Given the description of an element on the screen output the (x, y) to click on. 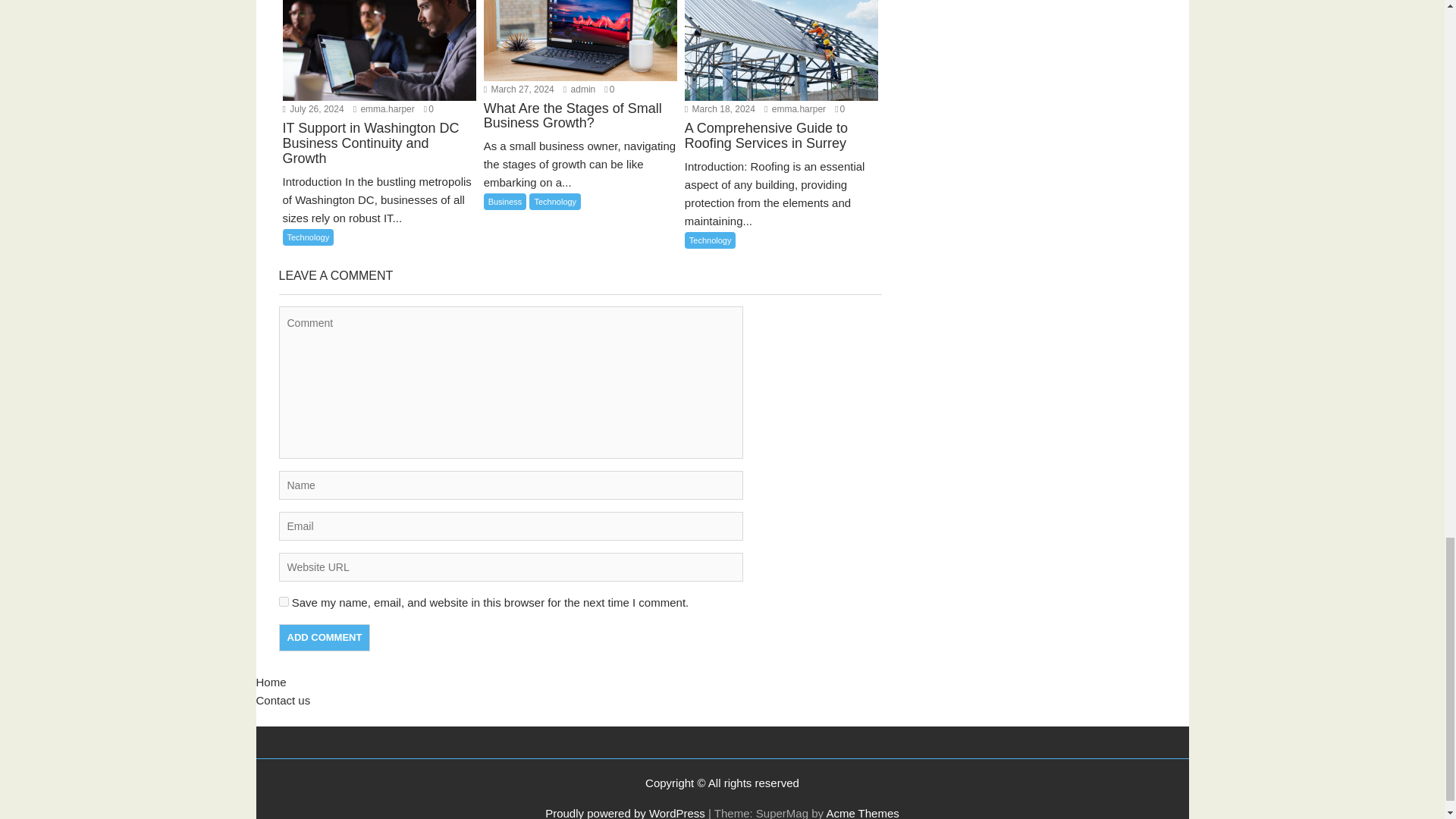
March 27, 2024 (518, 89)
admin (579, 89)
IT Support in Washington DC Business Continuity and Growth (379, 153)
Technology (307, 237)
Add Comment (325, 637)
July 26, 2024 (312, 109)
emma.harper (794, 109)
yes (283, 601)
emma.harper (383, 109)
emma.harper (383, 109)
admin (579, 89)
0 (428, 109)
